Given the description of an element on the screen output the (x, y) to click on. 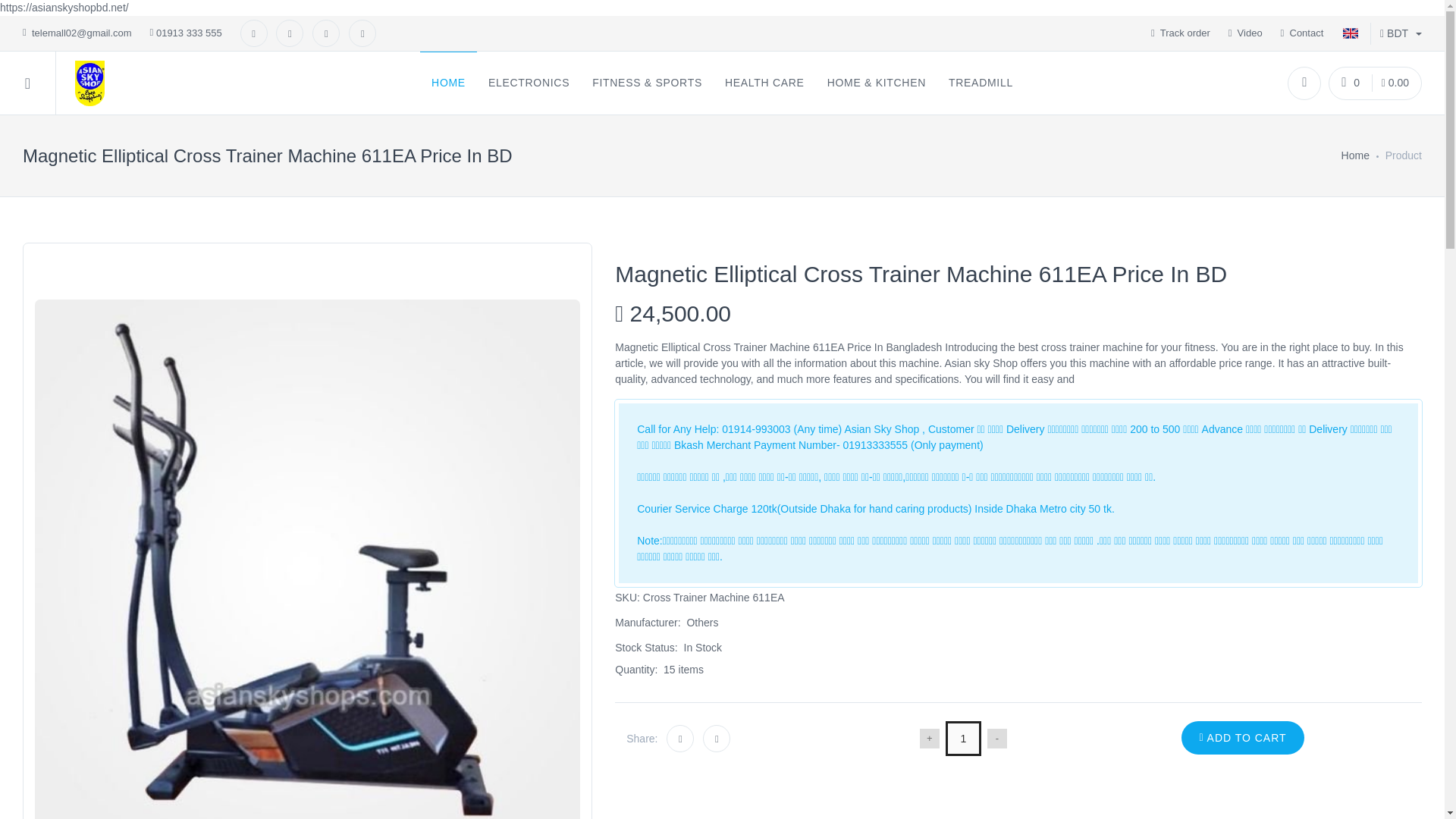
1 (962, 738)
